Given the description of an element on the screen output the (x, y) to click on. 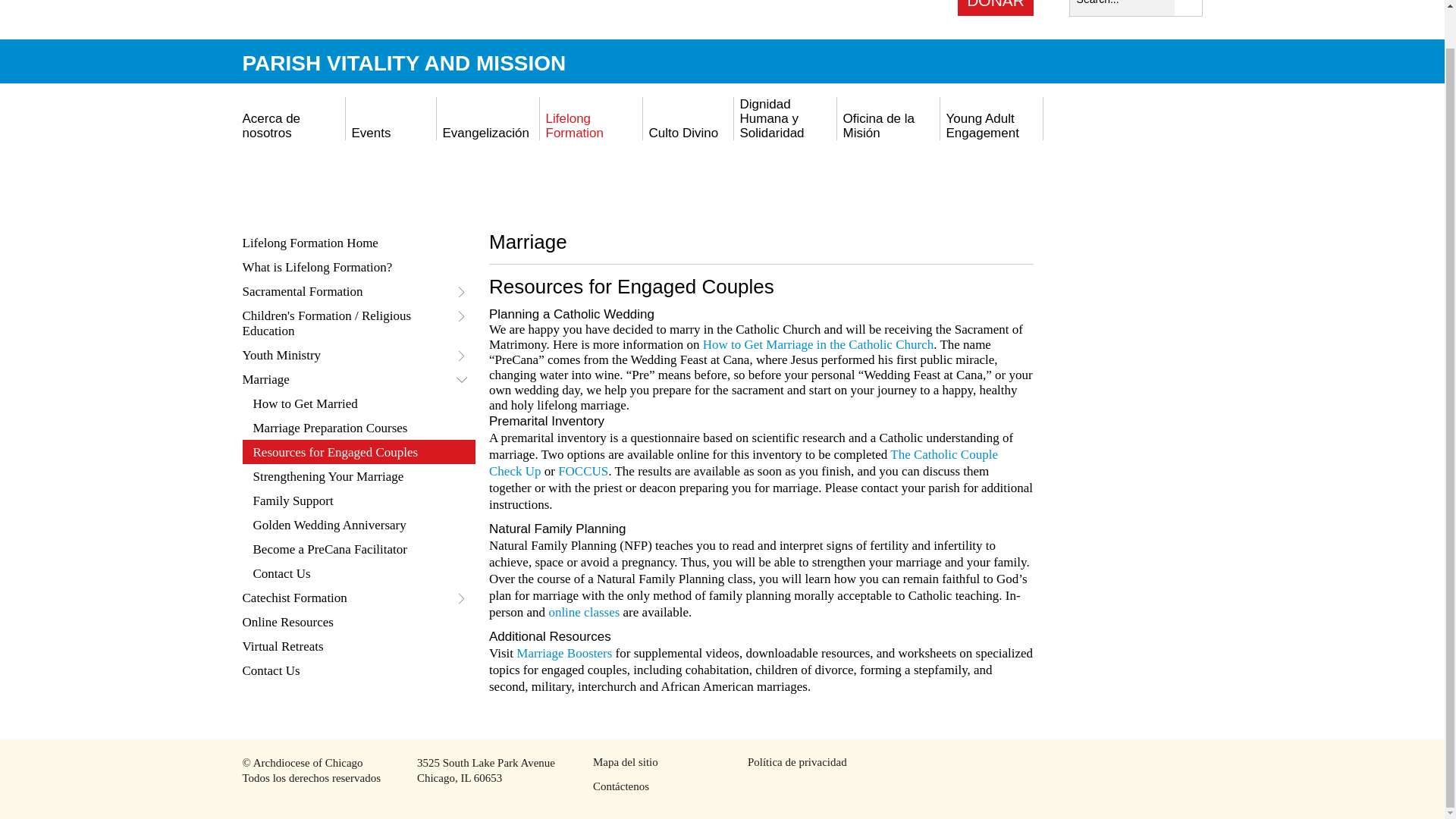
Acerca de nosotros (272, 125)
DONAR (995, 7)
Events (371, 133)
